Given the description of an element on the screen output the (x, y) to click on. 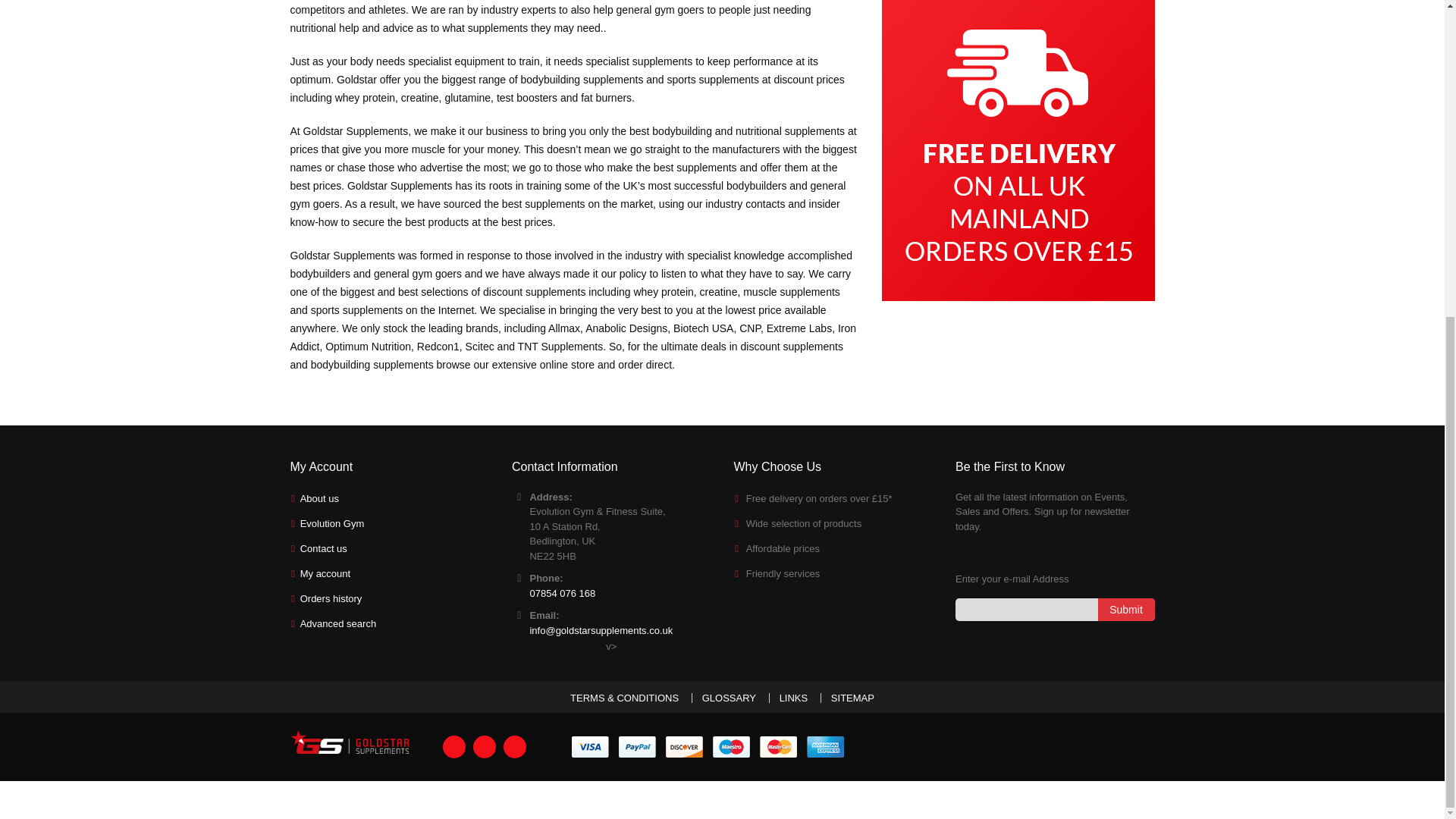
My account (324, 572)
Orders history (330, 598)
Glossary (728, 696)
About us (319, 498)
Submit (1125, 608)
Sign up for our newsletter (1054, 608)
Contact us (323, 548)
Links (793, 696)
Advanced search (337, 622)
